Given the description of an element on the screen output the (x, y) to click on. 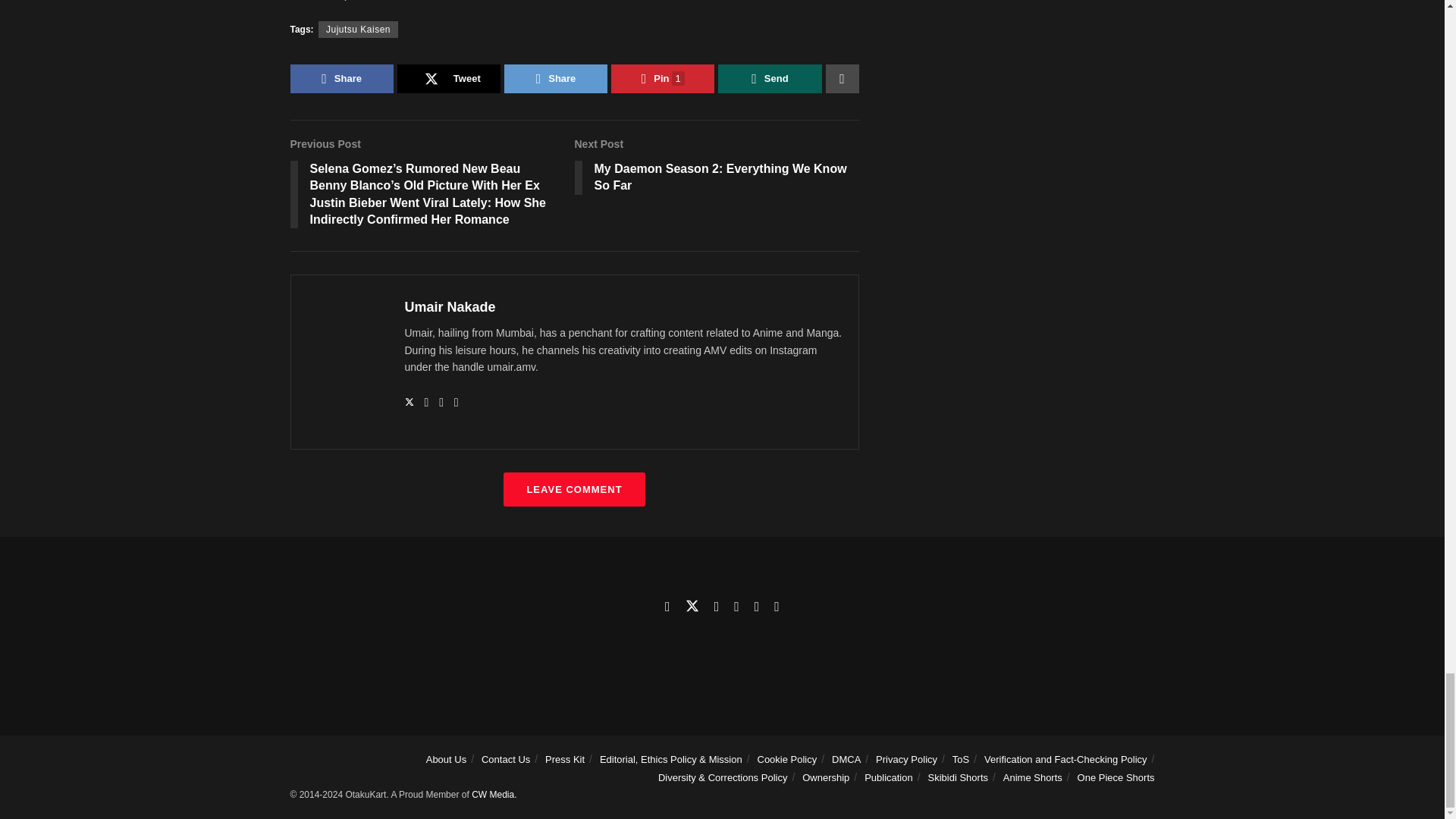
Share (717, 168)
Share (341, 78)
Send (555, 78)
Umair Nakade (769, 78)
Jujutsu Kaisen (450, 306)
Tweet (357, 29)
Pin1 (448, 78)
